Given the description of an element on the screen output the (x, y) to click on. 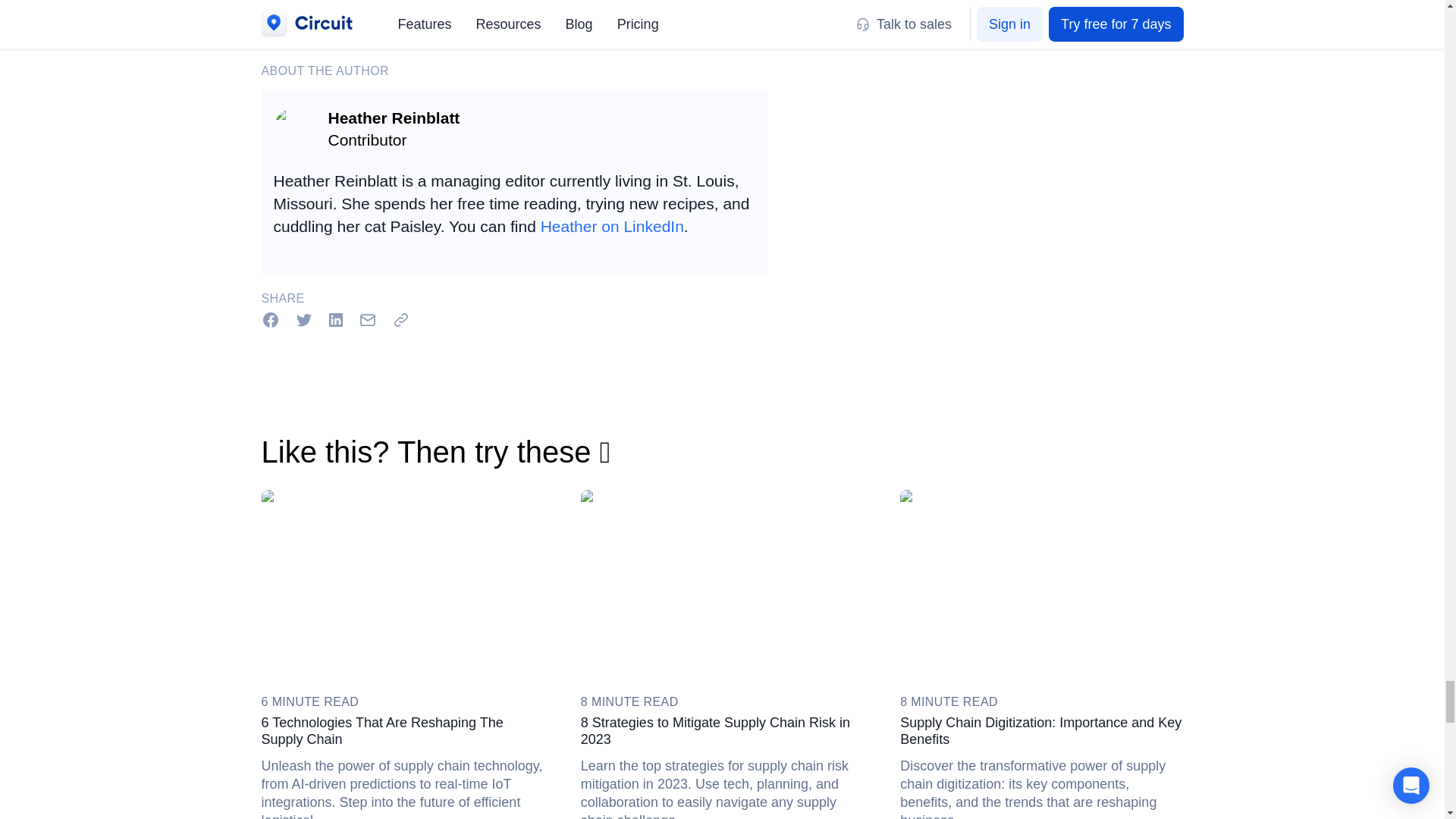
Circuit for Teams (365, 2)
Share on Twitter (303, 319)
Share on Facebook (269, 319)
